Given the description of an element on the screen output the (x, y) to click on. 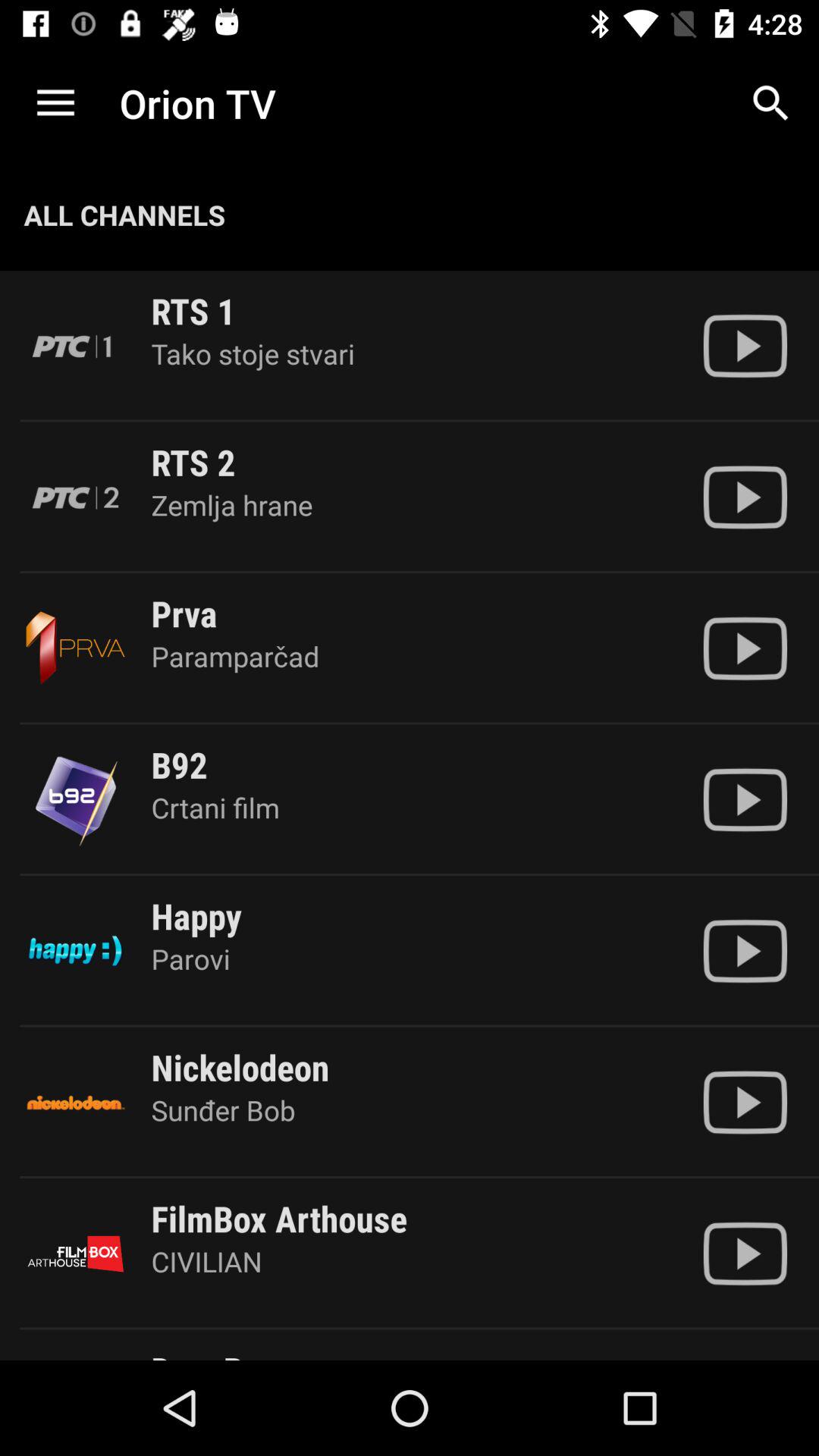
play (745, 1102)
